Given the description of an element on the screen output the (x, y) to click on. 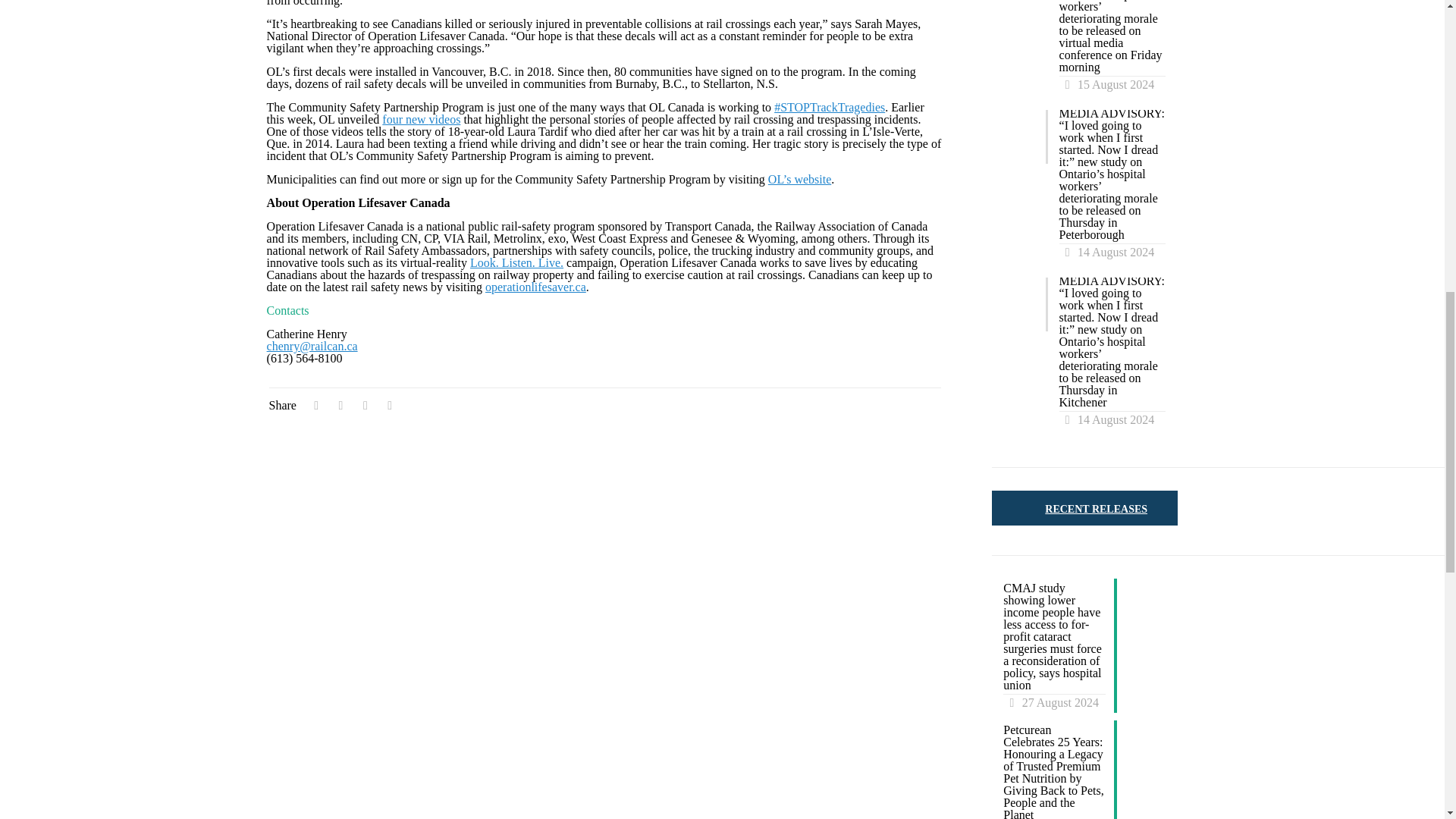
Look. Listen. Live. (516, 262)
ideos (448, 119)
operationlifesaver.ca (535, 286)
four new (404, 119)
